Given the description of an element on the screen output the (x, y) to click on. 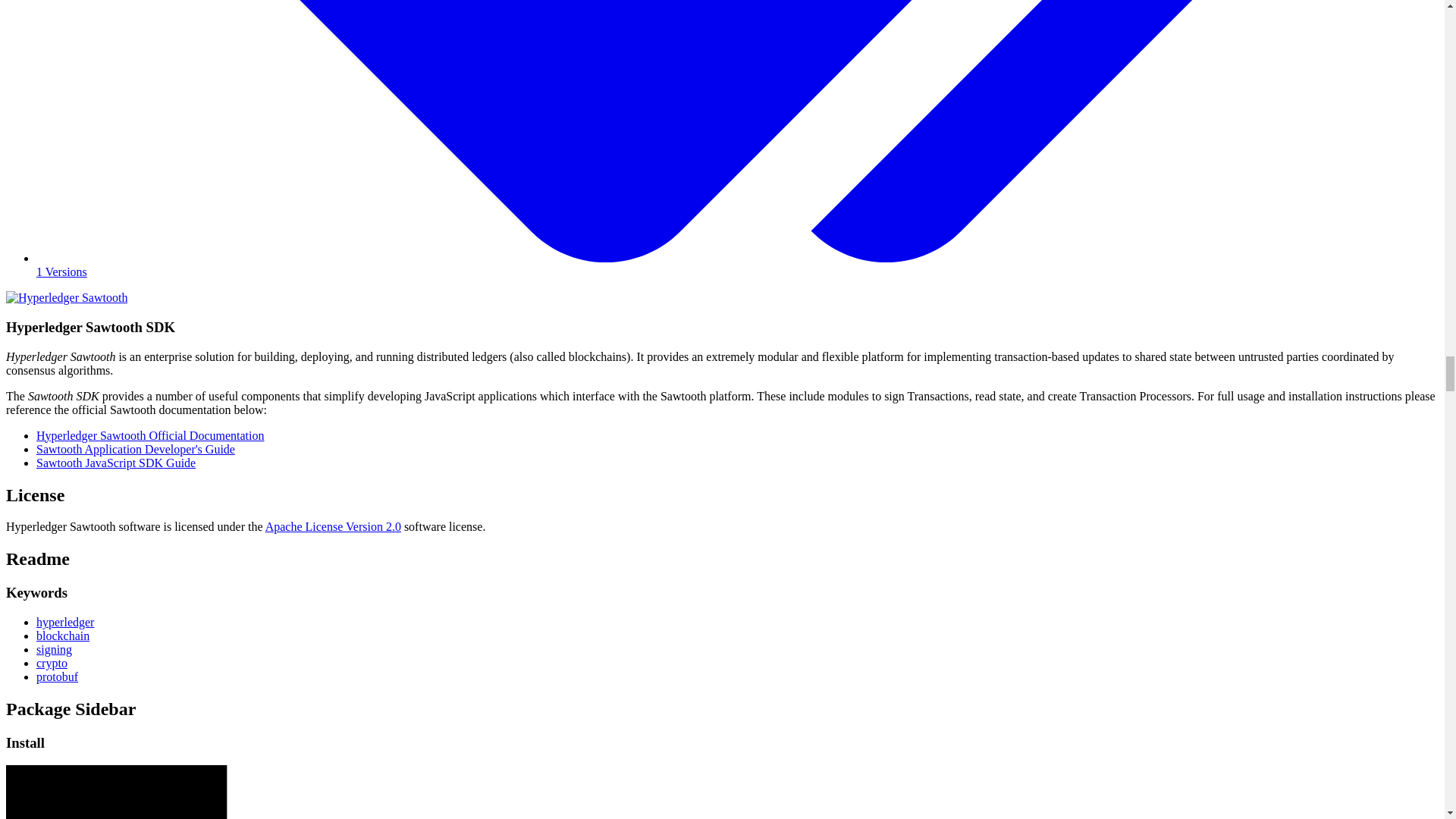
Apache License Version 2.0 (332, 526)
hyperledger (65, 621)
Sawtooth Application Developer's Guide (135, 449)
protobuf (57, 676)
crypto (51, 662)
blockchain (62, 635)
Hyperledger Sawtooth Official Documentation (150, 435)
Sawtooth JavaScript SDK Guide (115, 462)
signing (53, 649)
